Given the description of an element on the screen output the (x, y) to click on. 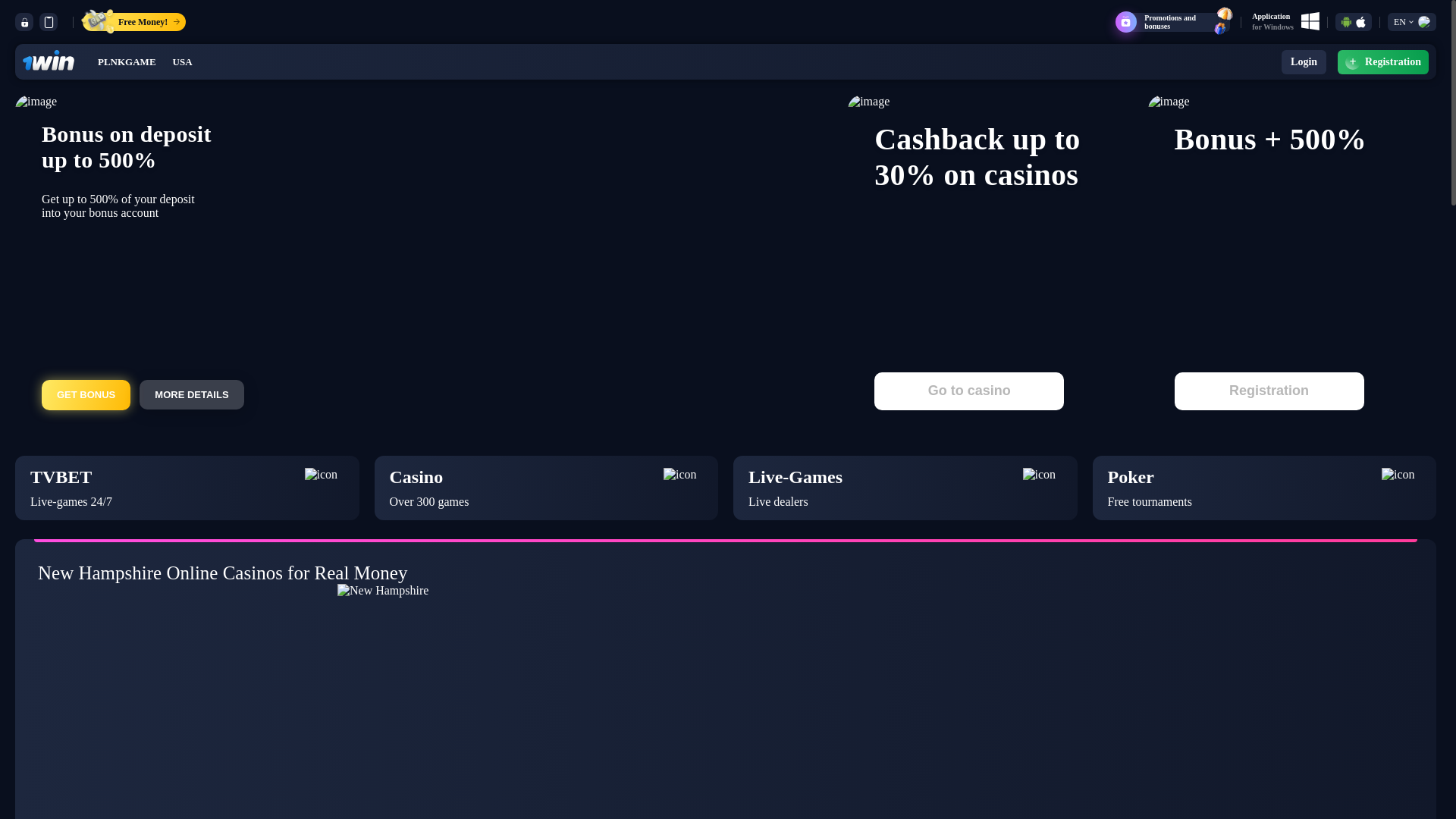
GET BONUS (1263, 487)
Login (86, 395)
Promotions and bonuses (905, 487)
Registration (1303, 61)
PLNKGAME (1176, 21)
MORE DETAILS (1269, 391)
Free Money! (126, 61)
Go to casino (191, 394)
